Given the description of an element on the screen output the (x, y) to click on. 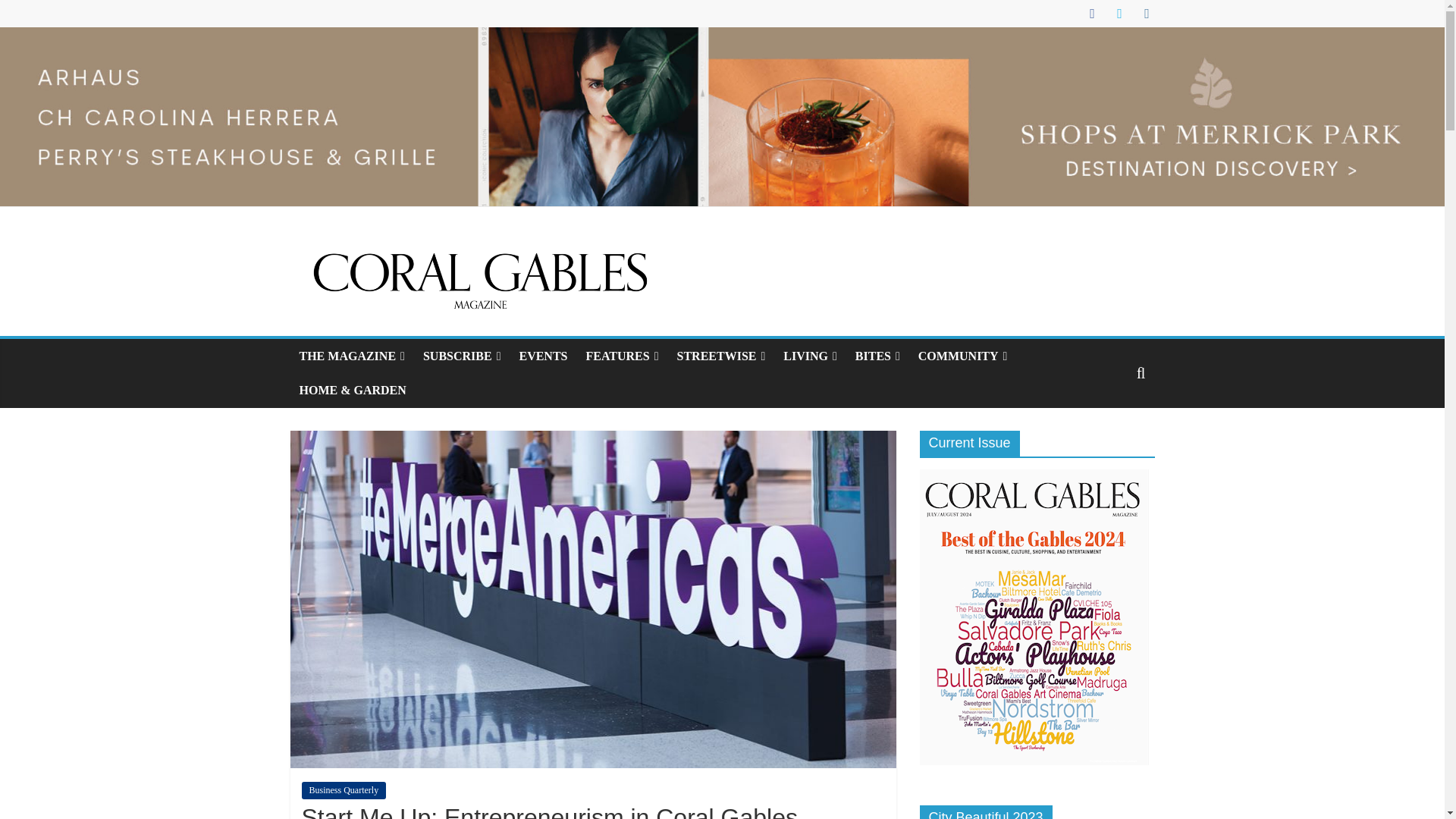
STREETWISE (721, 356)
THE MAGAZINE (351, 356)
EVENTS (542, 356)
SUBSCRIBE (462, 356)
FEATURES (621, 356)
COMMUNITY (962, 356)
BITES (876, 356)
LIVING (809, 356)
